Given the description of an element on the screen output the (x, y) to click on. 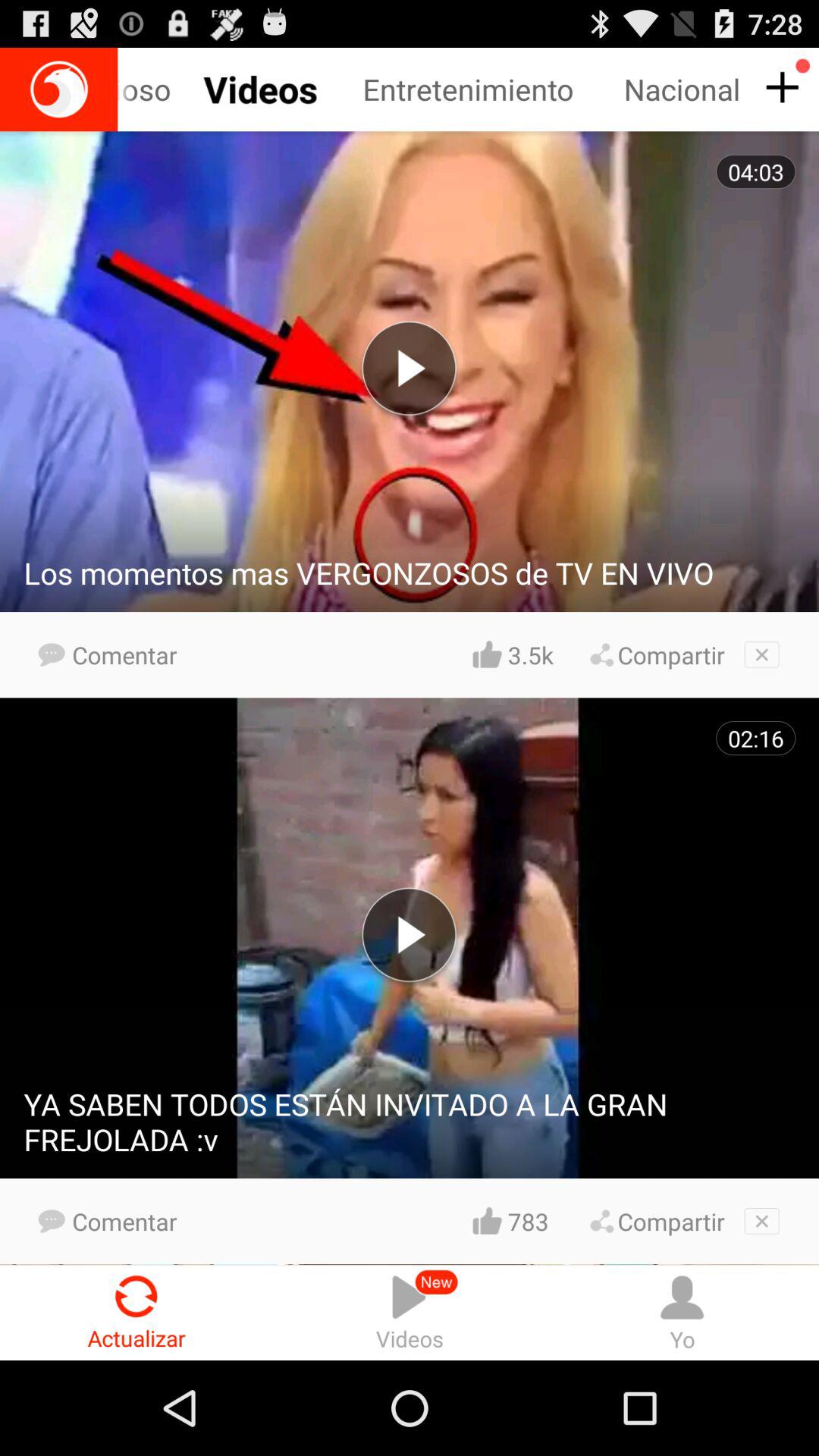
swipe until the yo (682, 1312)
